Given the description of an element on the screen output the (x, y) to click on. 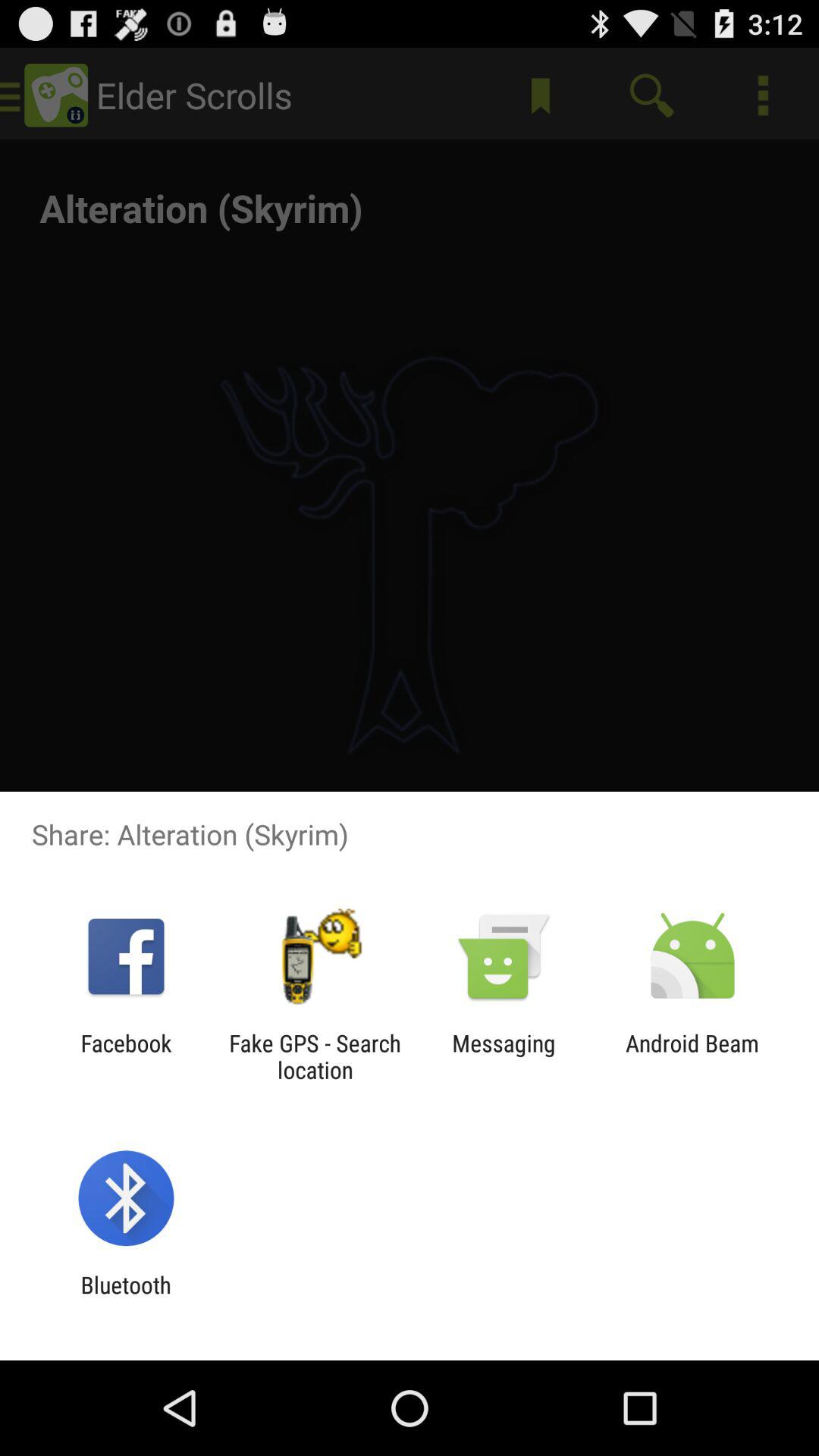
launch icon next to messaging (692, 1056)
